Given the description of an element on the screen output the (x, y) to click on. 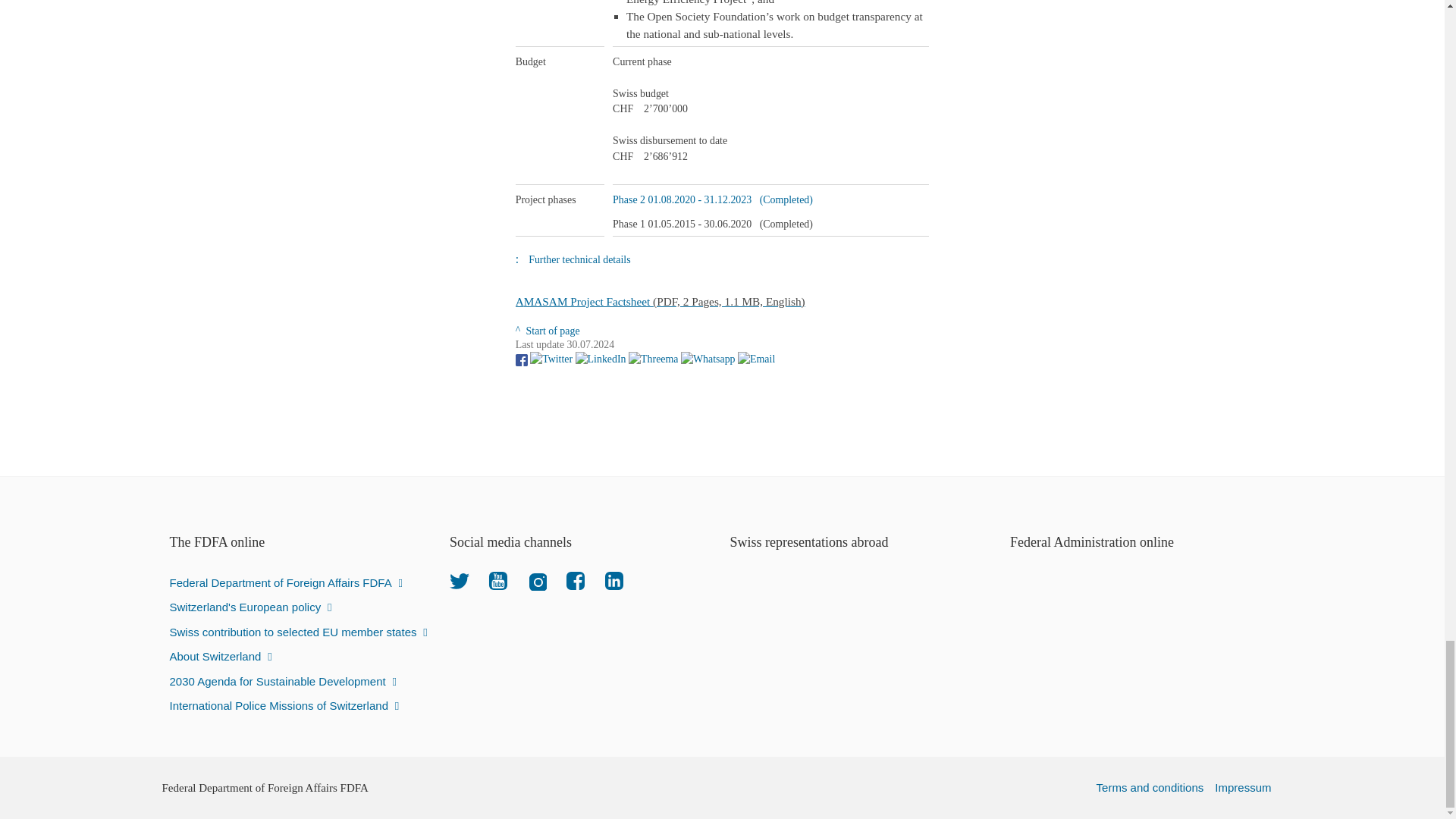
Twitter (458, 580)
Facebook (575, 580)
Instagram (537, 580)
LinkedIn (614, 580)
